Given the description of an element on the screen output the (x, y) to click on. 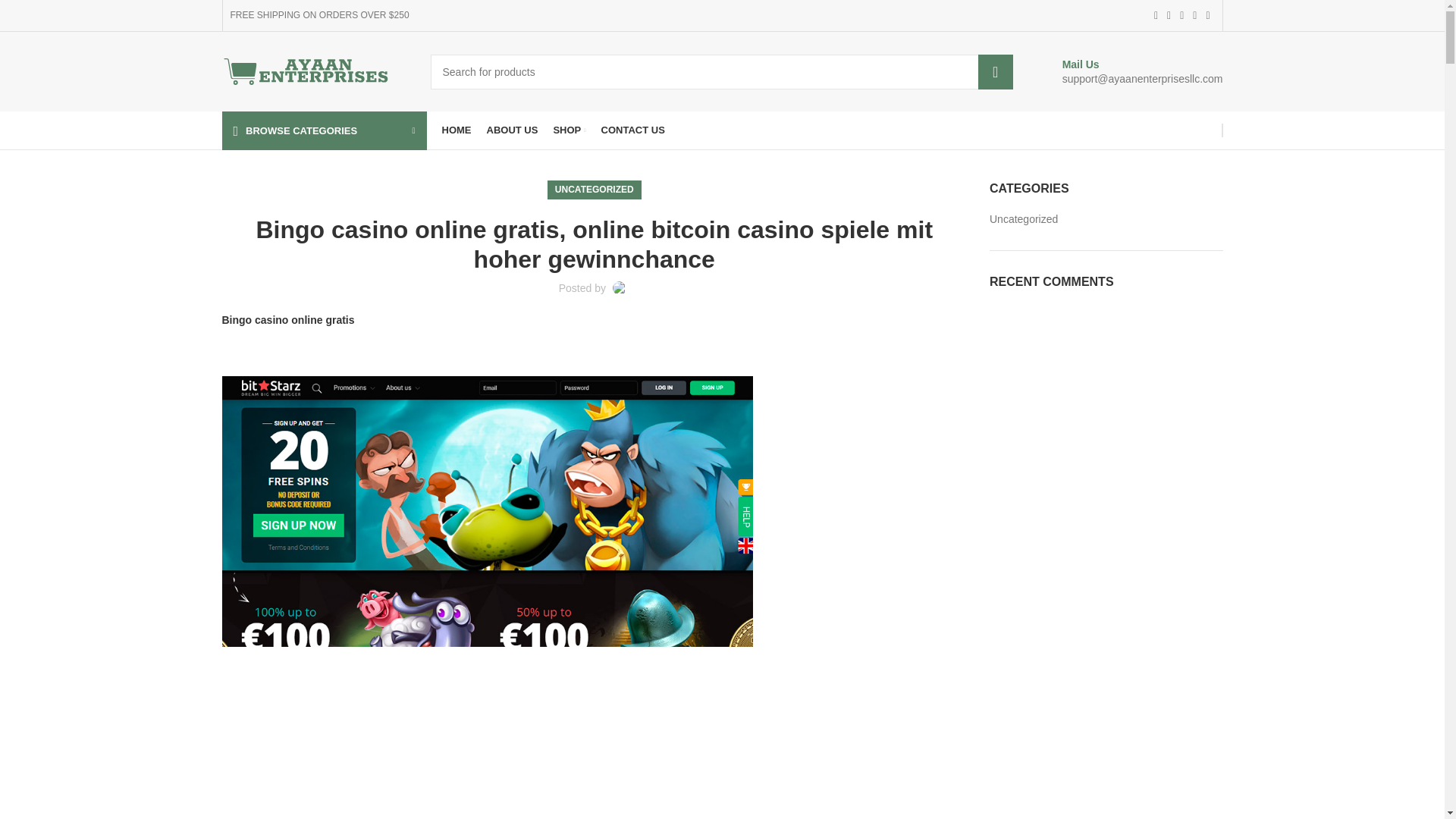
SHOP (569, 130)
Search for products (721, 71)
UNCATEGORIZED (593, 189)
HOME (455, 130)
CONTACT US (633, 130)
Bingo casino online gratis (287, 319)
ABOUT US (512, 130)
SEARCH (995, 71)
